Given the description of an element on the screen output the (x, y) to click on. 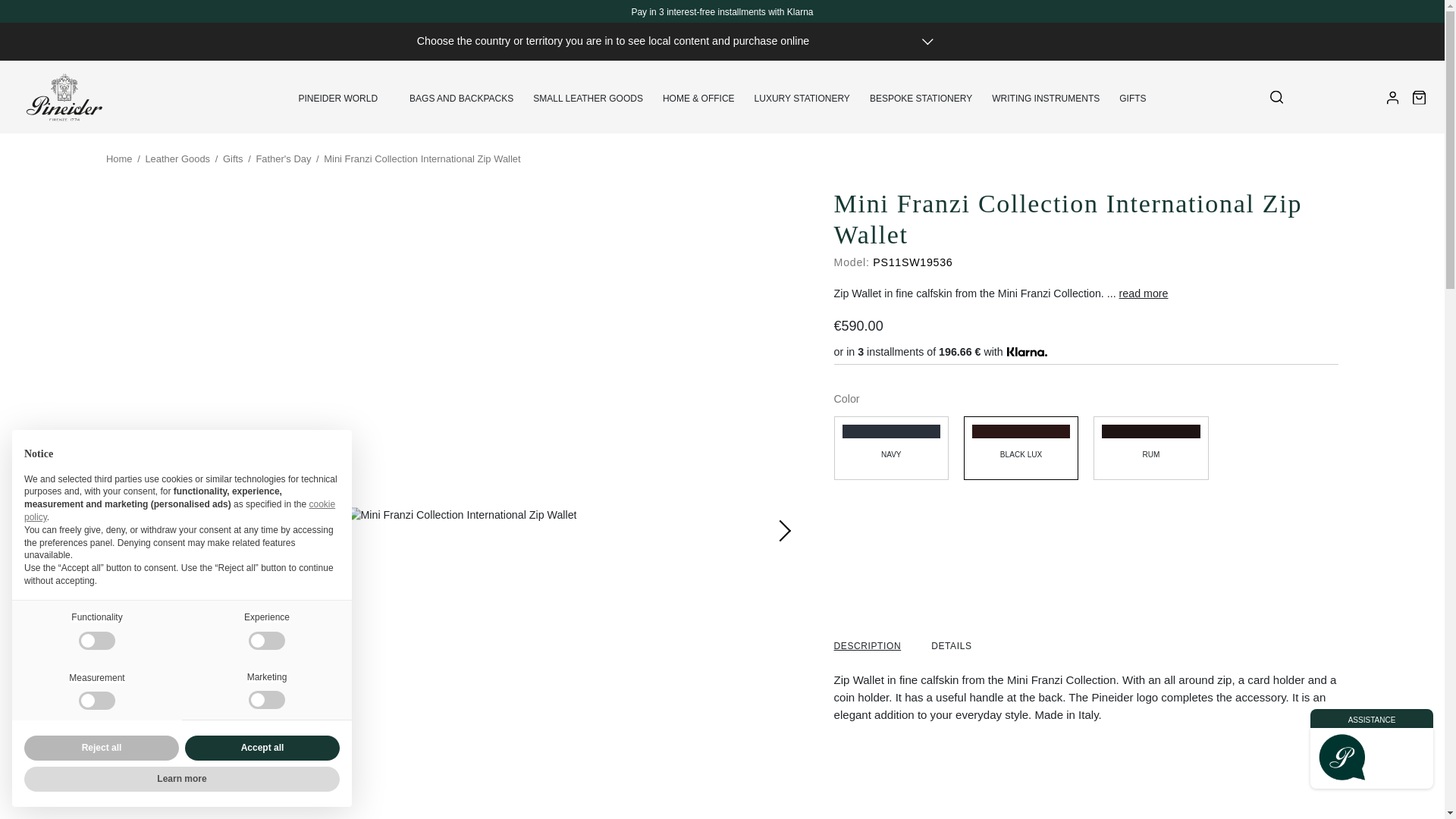
false (96, 640)
false (96, 700)
BAGS AND BACKPACKS (461, 96)
false (266, 640)
PINEIDER WORLD (337, 96)
false (266, 700)
